Given the description of an element on the screen output the (x, y) to click on. 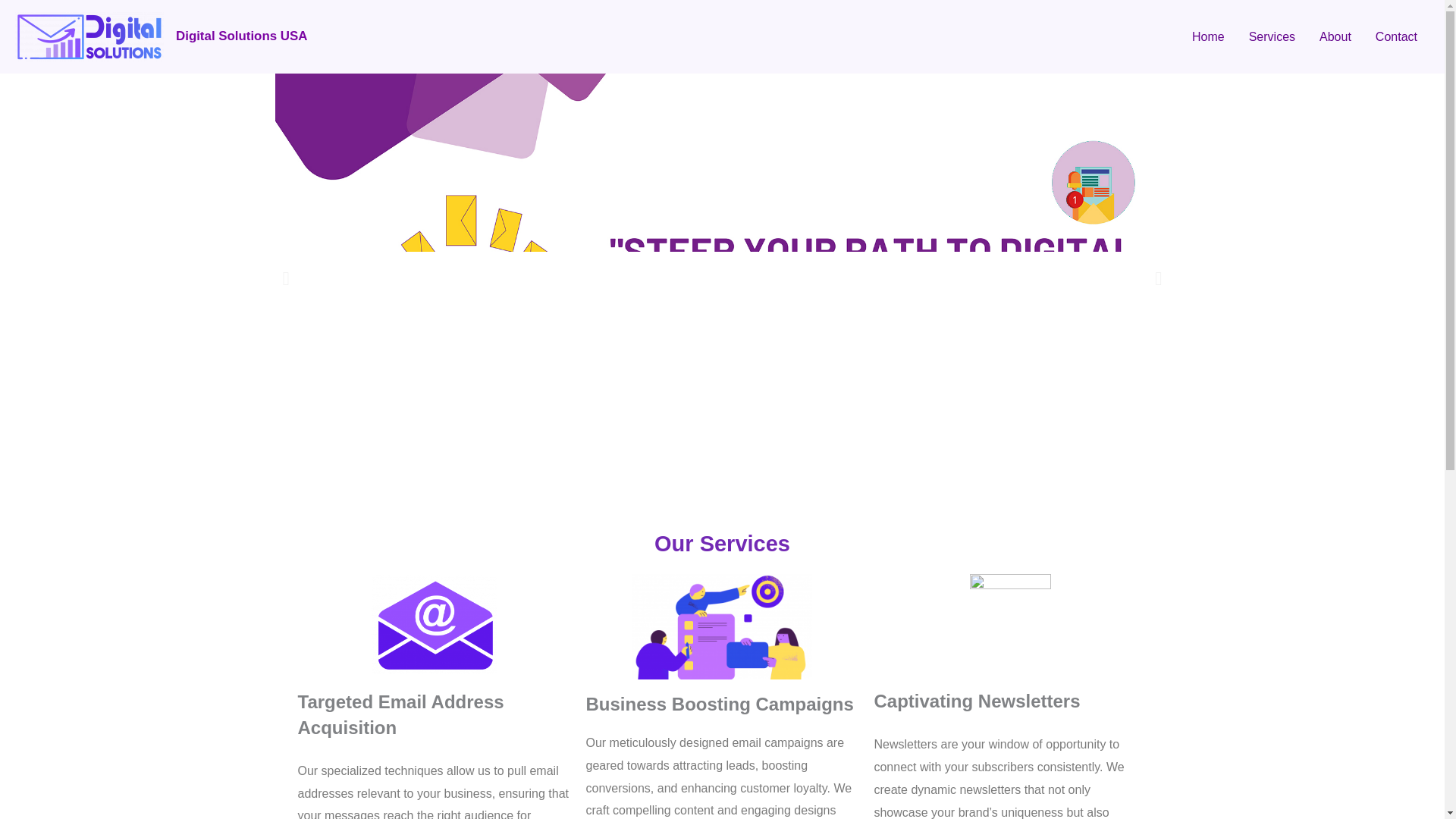
Digital Solutions USA (241, 35)
Contact (1395, 35)
About (1334, 35)
Home (1207, 35)
Services (1271, 35)
